Given the description of an element on the screen output the (x, y) to click on. 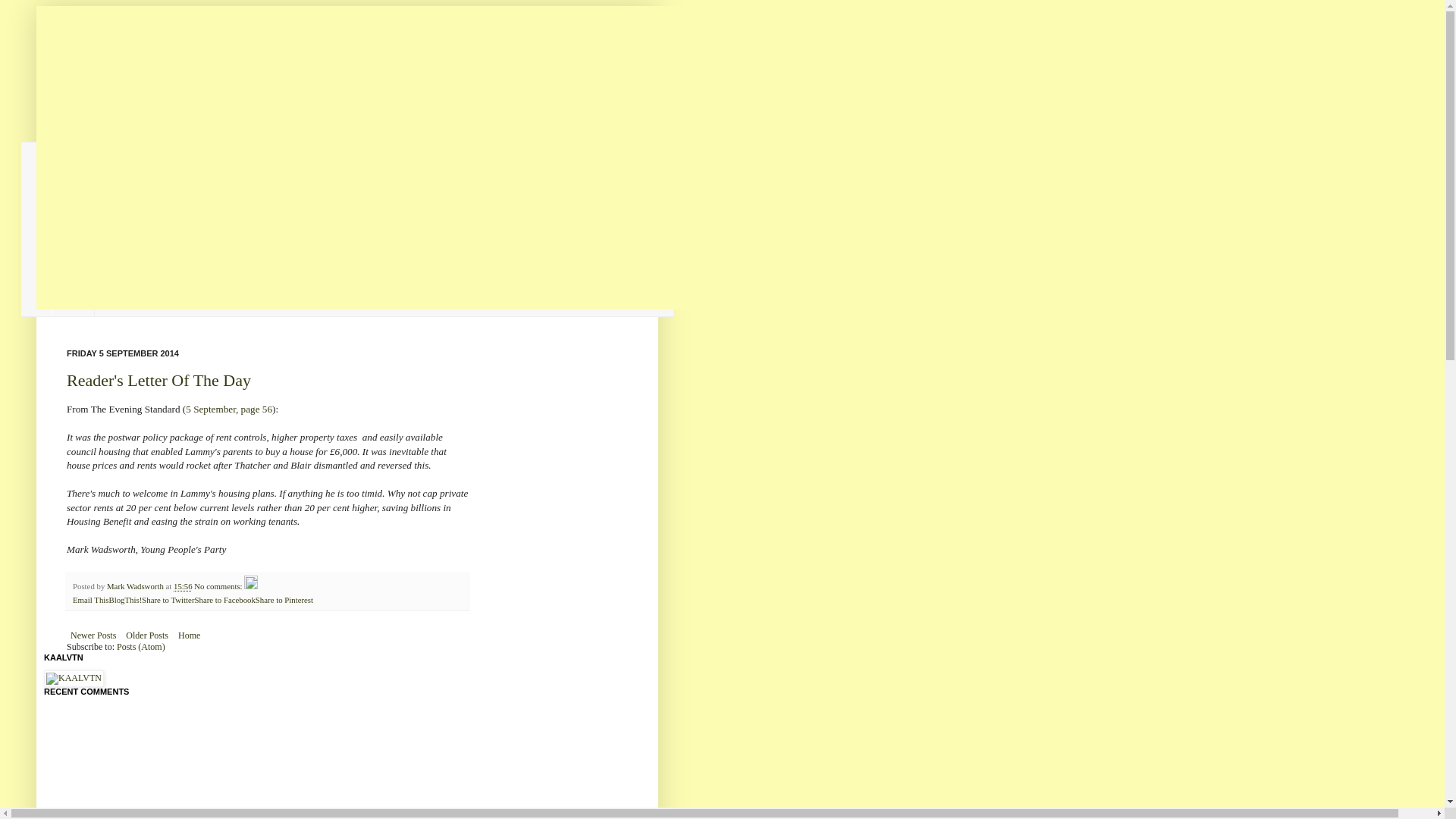
Share to Twitter (167, 599)
Newer Posts (92, 635)
Email This (89, 599)
Share to Pinterest (284, 599)
author profile (135, 585)
Edit Post (250, 585)
Share to Twitter (167, 599)
About Georgism (97, 278)
Share to Facebook (223, 599)
Reader's Letter Of The Day (158, 380)
Newer Posts (92, 635)
Older Posts (146, 635)
Mark Wadsworth (135, 585)
Leaflet download (99, 253)
Standing in elections (106, 204)
